Given the description of an element on the screen output the (x, y) to click on. 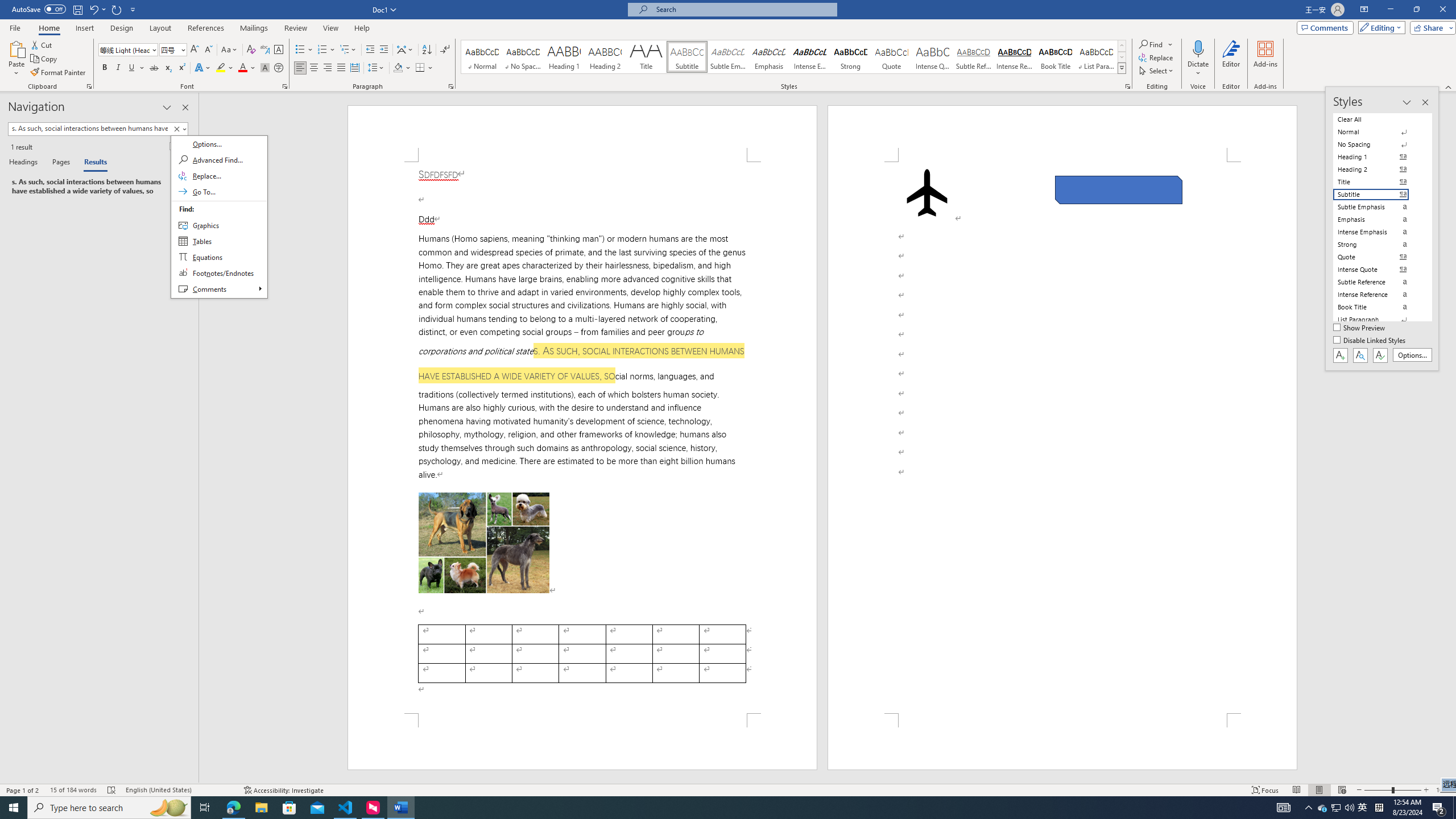
Font Color RGB(255, 0, 0) (241, 67)
Repeat Style (117, 9)
Decrease Indent (370, 49)
Italic (118, 67)
Character Border (278, 49)
Replace... (1156, 56)
Clear (178, 128)
Q2790: 100% (1349, 807)
